Given the description of an element on the screen output the (x, y) to click on. 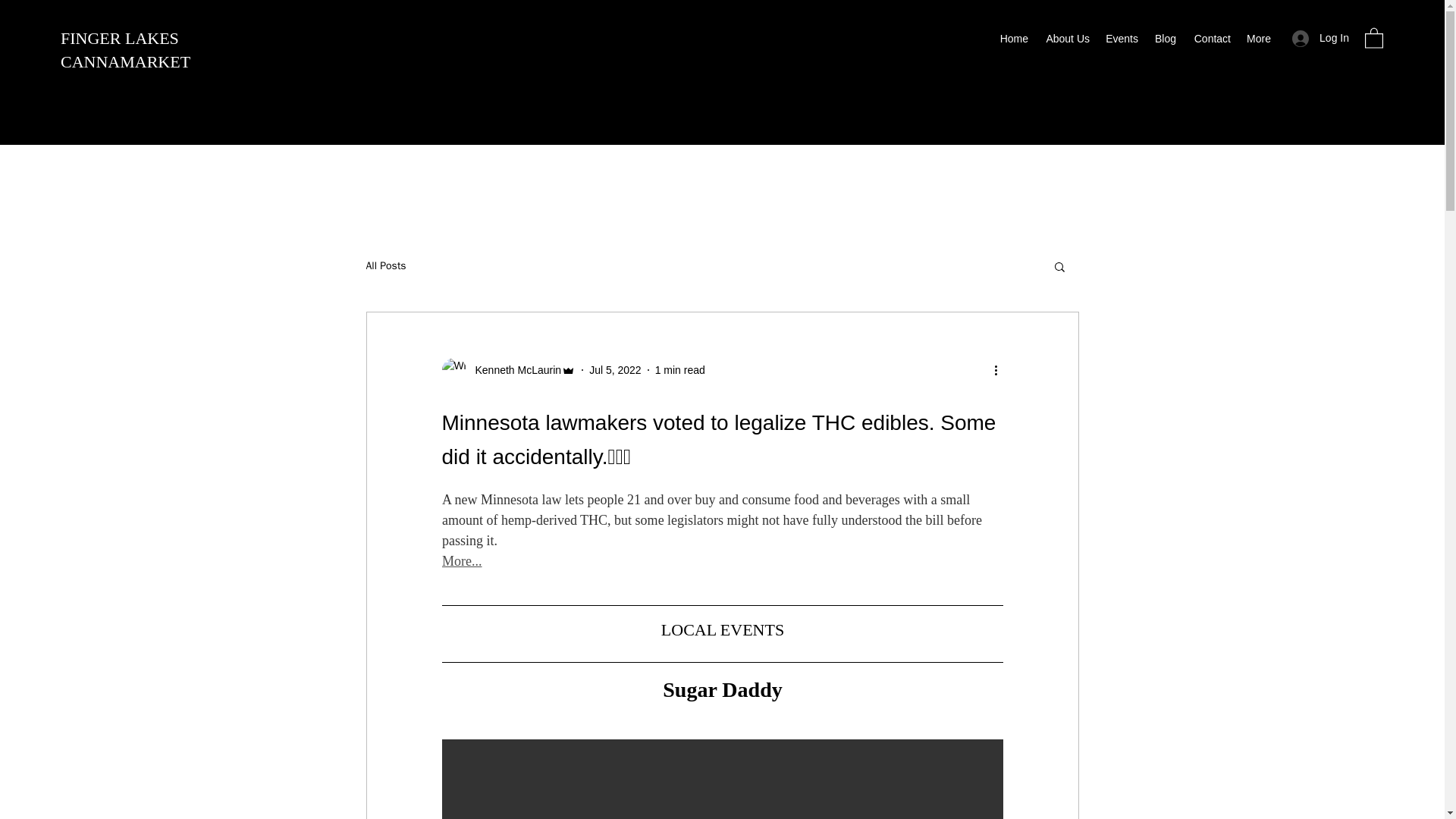
Events (1121, 38)
All Posts (385, 265)
Home (1013, 38)
Jul 5, 2022 (615, 369)
Kenneth McLaurin (508, 369)
Kenneth McLaurin (512, 370)
Contact (1211, 38)
1 min read (679, 369)
Blog (1164, 38)
Log In (1320, 38)
More... (461, 560)
FINGER LAKES CANNAMARKET (125, 49)
About Us (1066, 38)
